Given the description of an element on the screen output the (x, y) to click on. 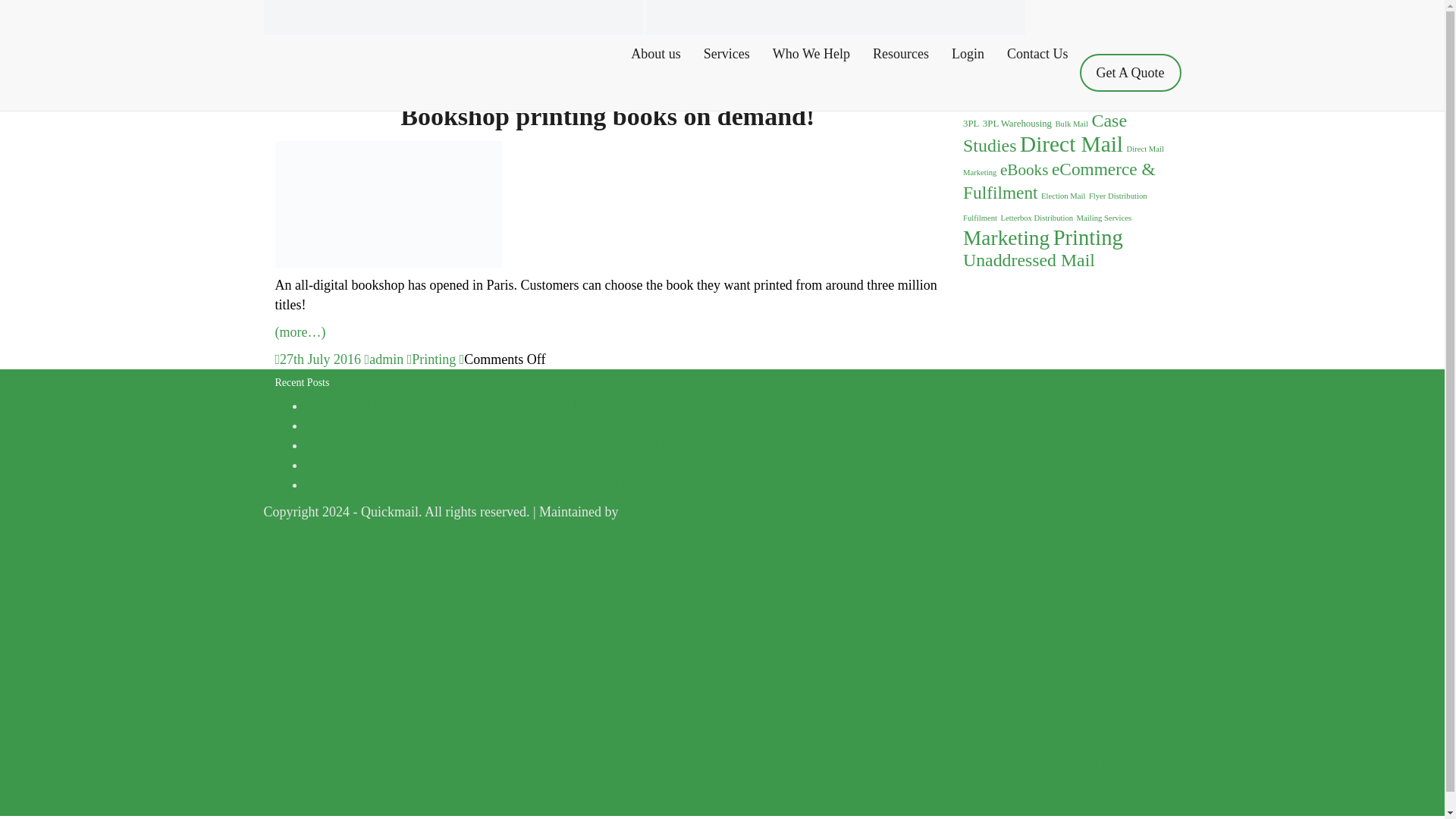
Case Studies (1044, 132)
About us (656, 53)
Resources (900, 53)
Services (727, 53)
Login (967, 53)
Bookshop printing books on demand! (607, 116)
3PL Warehousing (1016, 122)
Services (727, 53)
admin (386, 359)
Bulk Mail (1072, 123)
About us (656, 53)
Who We Help (811, 53)
3PL (970, 122)
Get A Quote (1130, 72)
Printing (433, 359)
